Given the description of an element on the screen output the (x, y) to click on. 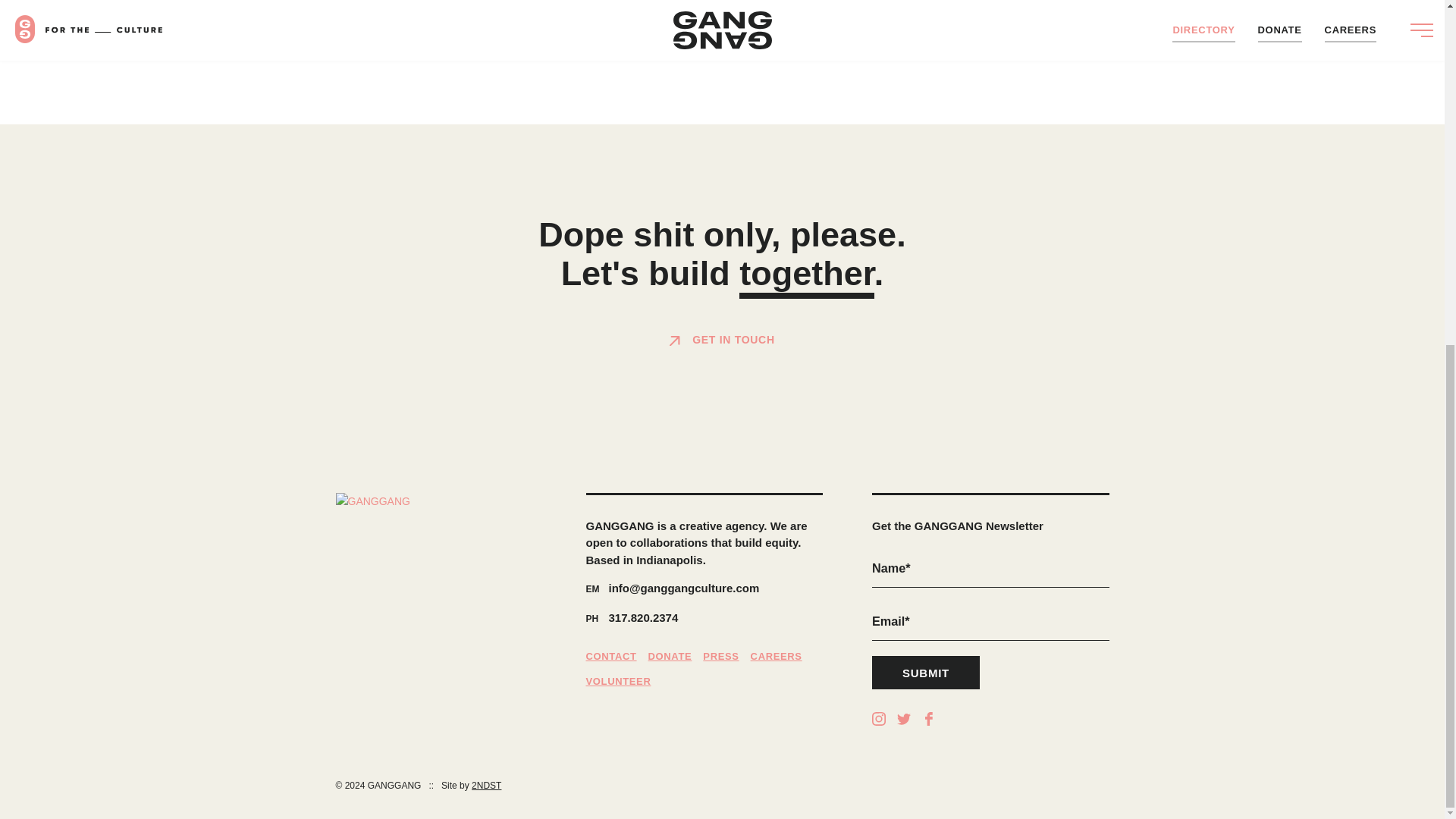
GET IN TOUCH (721, 339)
CONTACT (610, 656)
Submit (925, 672)
PH317.820.2374 (703, 618)
PRESS (720, 656)
VOLUNTEER (617, 681)
Submit (925, 672)
CAREERS (776, 656)
DONATE (670, 656)
